Given the description of an element on the screen output the (x, y) to click on. 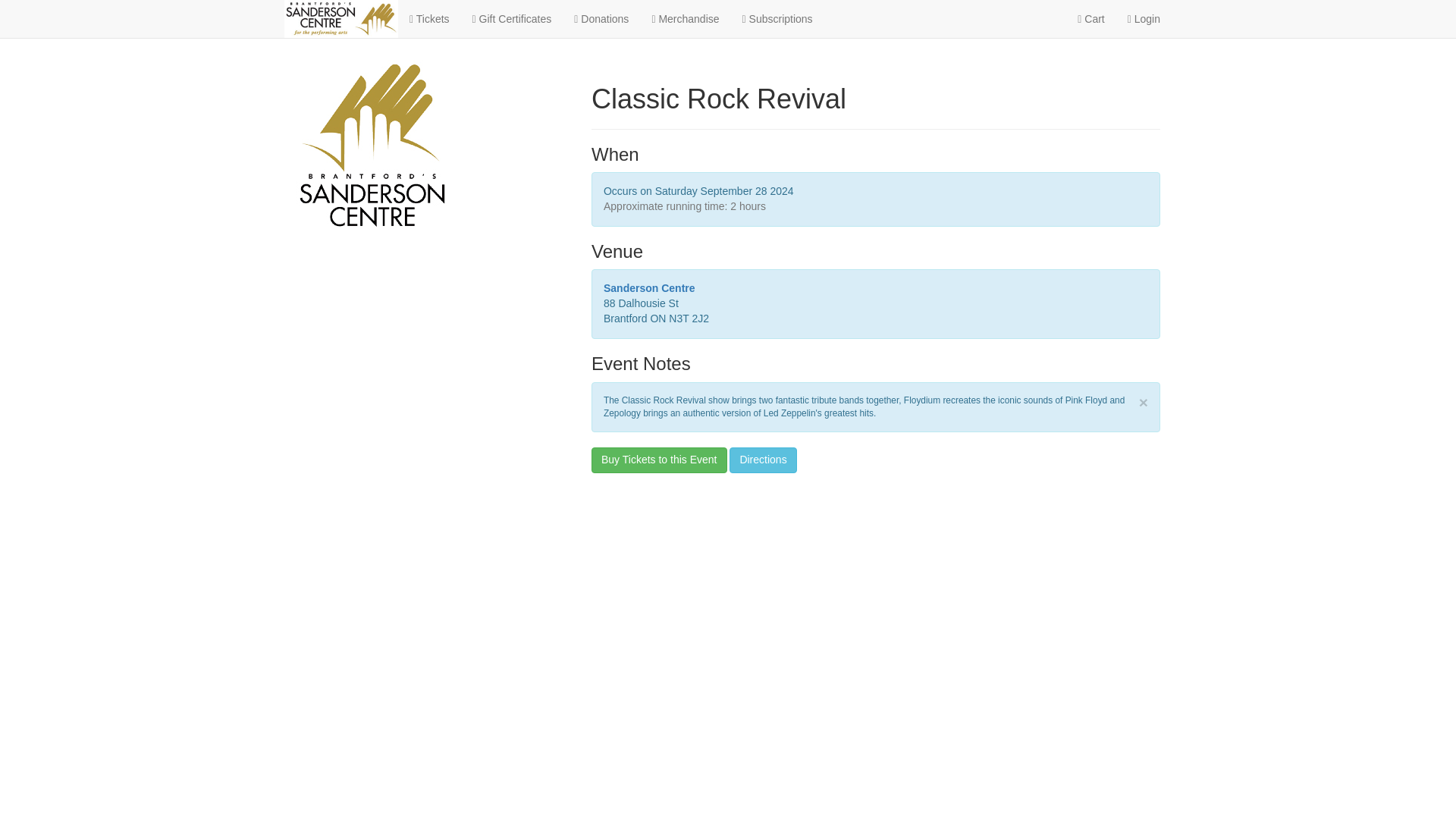
Login (1144, 18)
Sanderson Centre (649, 287)
Buy Tickets to this Event (658, 460)
Donations (601, 18)
Merchandise (685, 18)
Gift Certificates (512, 18)
Subscriptions (777, 18)
Tickets (429, 18)
Cart (1090, 18)
Directions (762, 460)
